Given the description of an element on the screen output the (x, y) to click on. 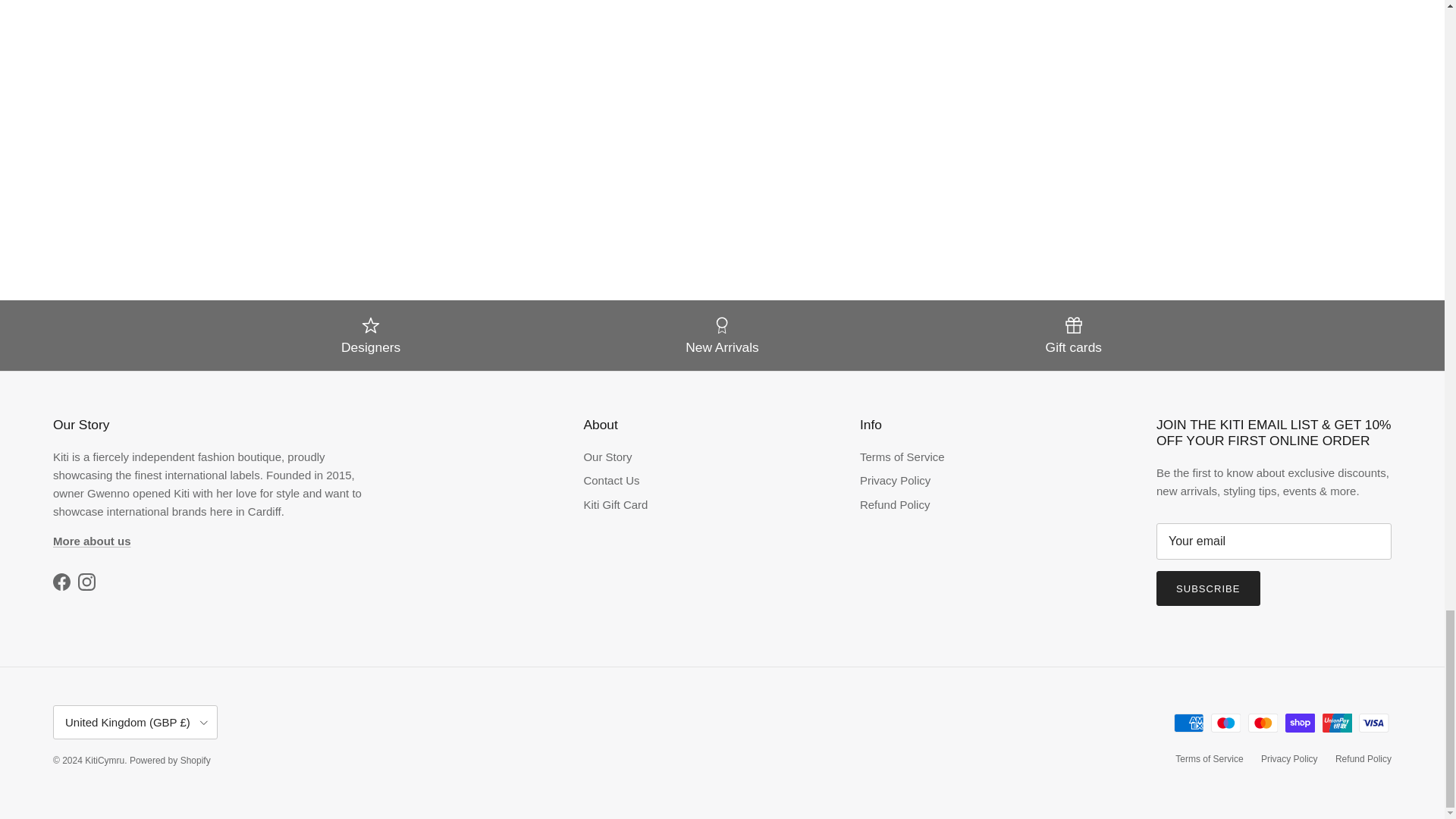
KitiCymru on Facebook (60, 581)
Our Story (91, 540)
KitiCymru on Instagram (87, 581)
Maestro (1225, 722)
American Express (1188, 722)
